Given the description of an element on the screen output the (x, y) to click on. 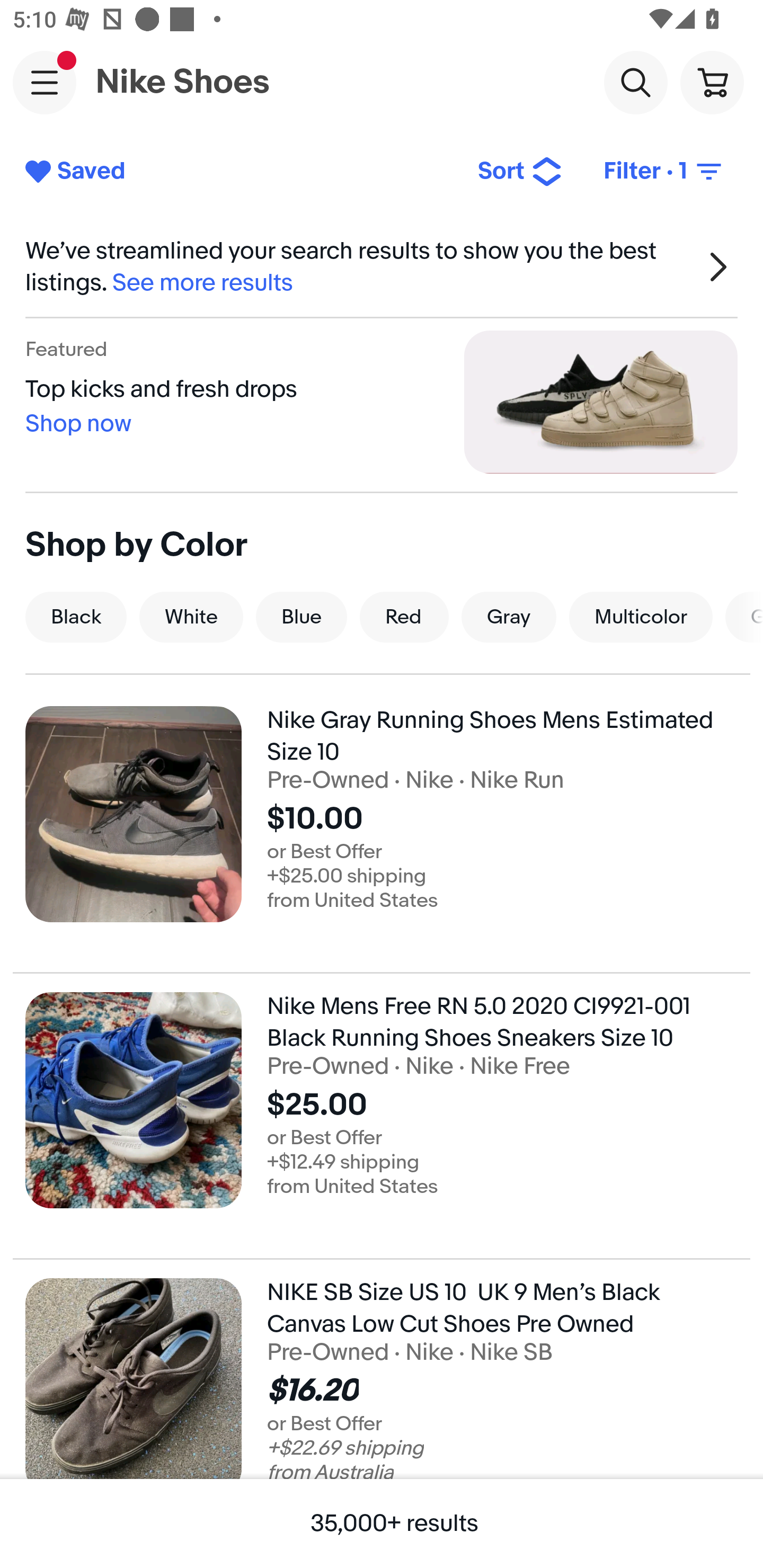
Main navigation, notification is pending, open (44, 82)
Search (635, 81)
Cart button shopping cart (711, 81)
Saved (237, 171)
Sort (520, 171)
Filter • 1 Filter (1 applied) (663, 171)
Featured Top kicks and fresh drops Shop now (381, 401)
Black Black, Color (75, 616)
White White, Color (191, 616)
Blue Blue, Color (301, 616)
Red Red, Color (404, 616)
Gray Gray, Color (508, 616)
Multicolor Multicolor, Color (640, 616)
